Given the description of an element on the screen output the (x, y) to click on. 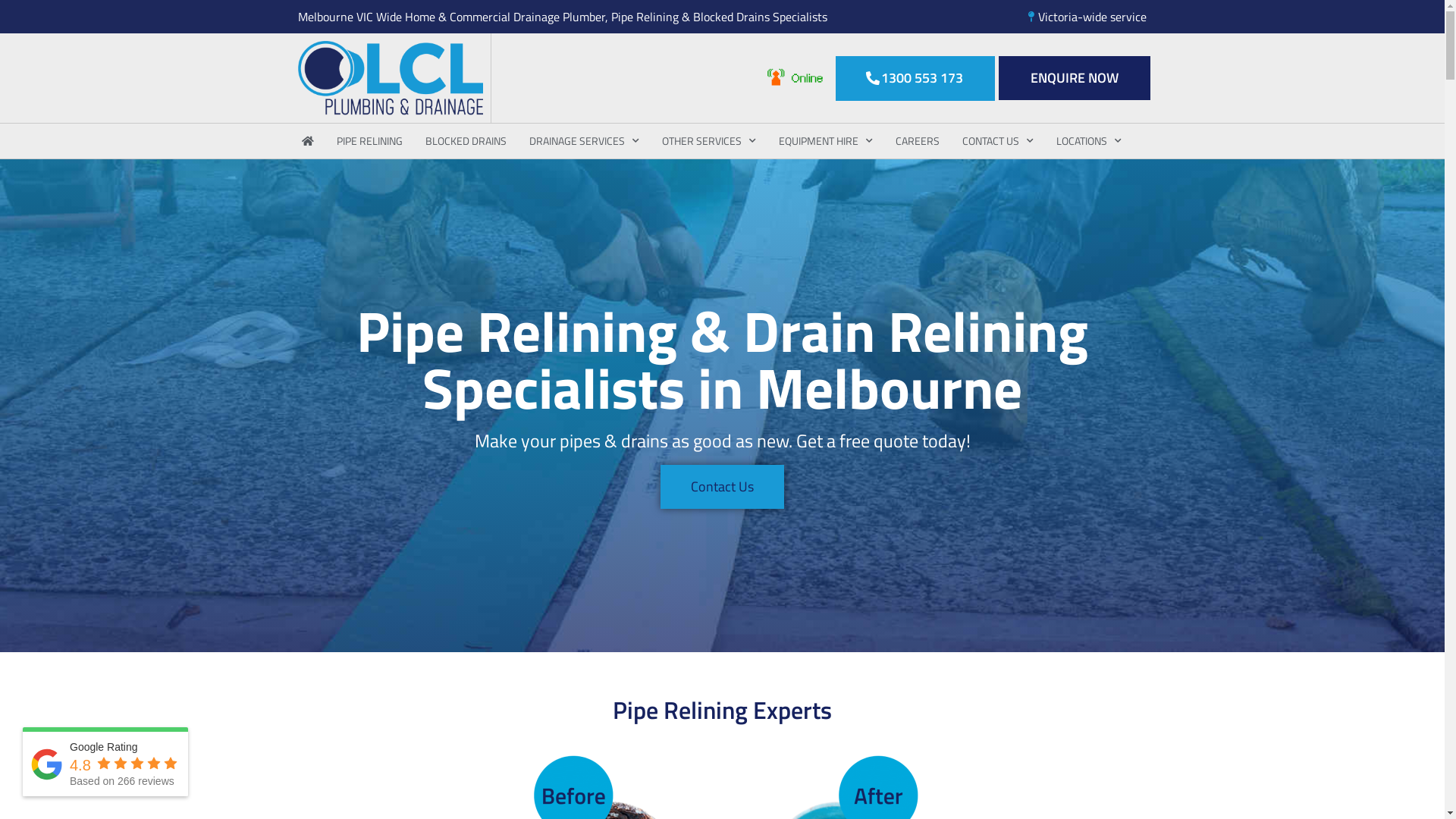
LOCATIONS Element type: text (1088, 140)
BLOCKED DRAINS Element type: text (465, 140)
1300 553 173 Element type: text (914, 78)
Contact Us Element type: text (722, 486)
OTHER SERVICES Element type: text (708, 140)
EQUIPMENT HIRE Element type: text (825, 140)
CONTACT US Element type: text (997, 140)
DRAINAGE SERVICES Element type: text (583, 140)
ENQUIRE NOW Element type: text (1073, 78)
PIPE RELINING Element type: text (368, 140)
CAREERS Element type: text (917, 140)
